Given the description of an element on the screen output the (x, y) to click on. 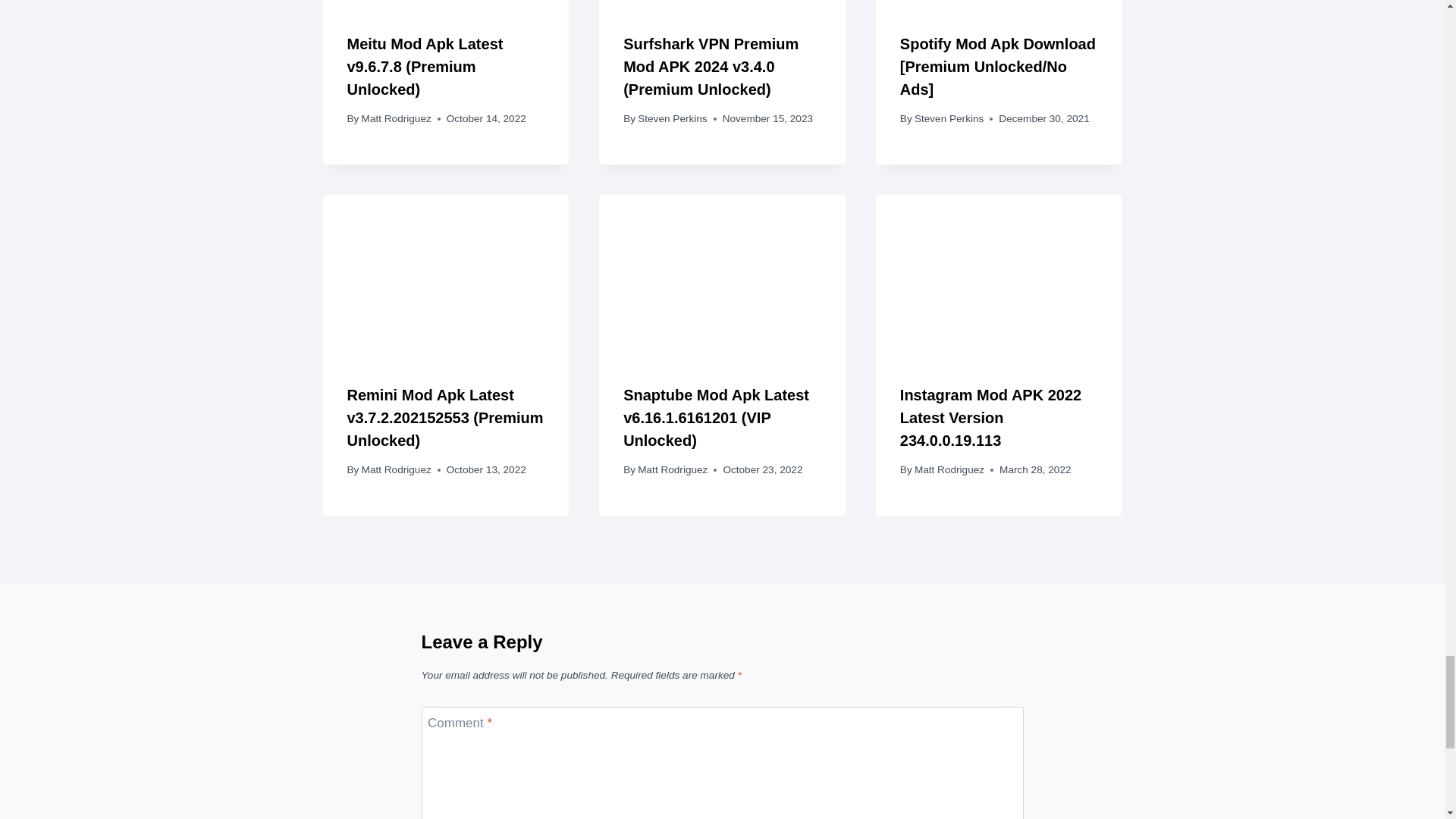
Steven Perkins (671, 118)
Matt Rodriguez (395, 118)
